Given the description of an element on the screen output the (x, y) to click on. 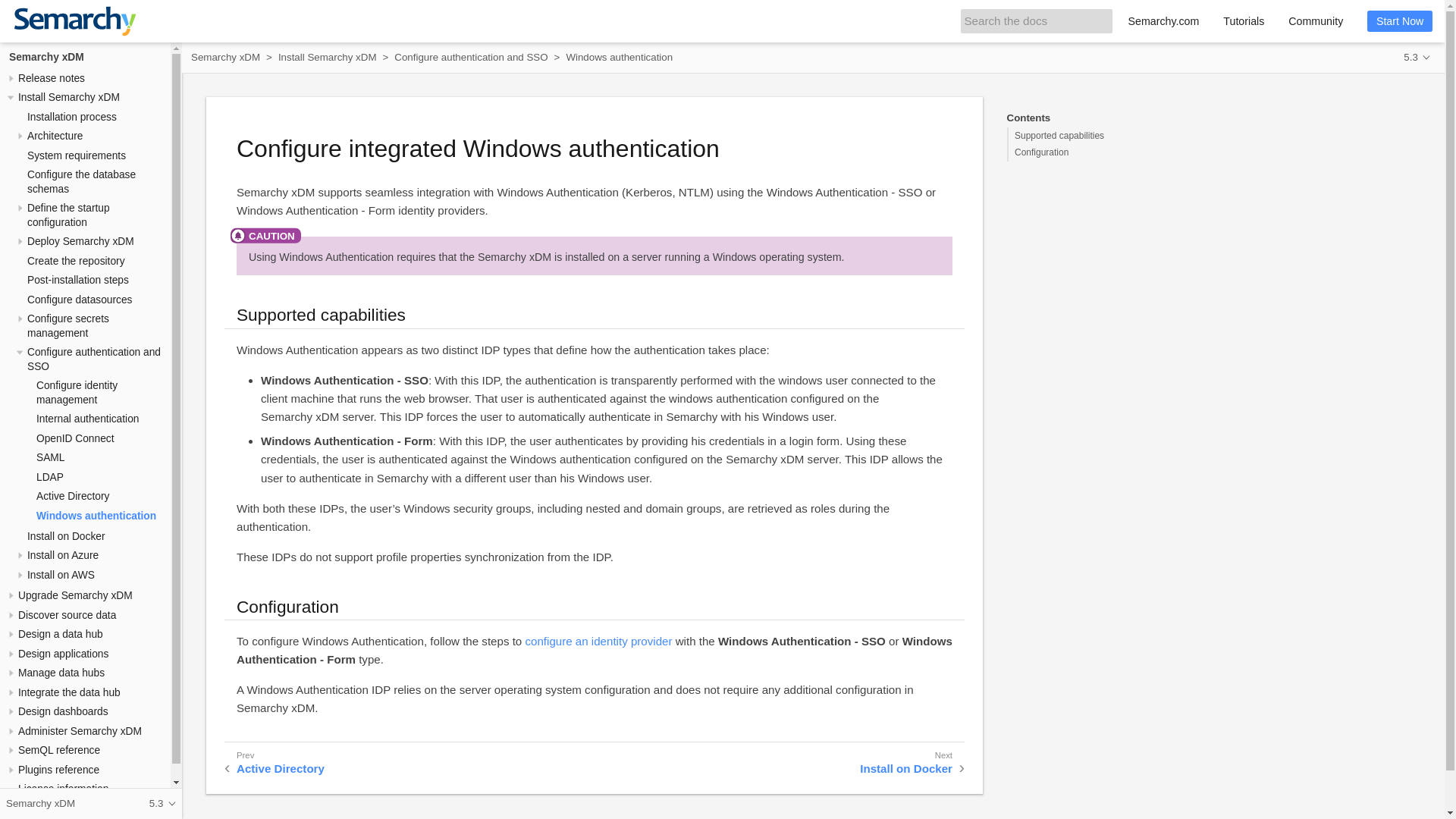
Start Now (1399, 20)
Define the startup configuration (68, 215)
Community (1315, 21)
Configure the database schemas (81, 181)
Architecture (54, 135)
Installation process (71, 116)
Caution (265, 235)
Show other versions of page (1416, 56)
Install Semarchy xDM (68, 97)
Semarchy.com (1163, 21)
